Given the description of an element on the screen output the (x, y) to click on. 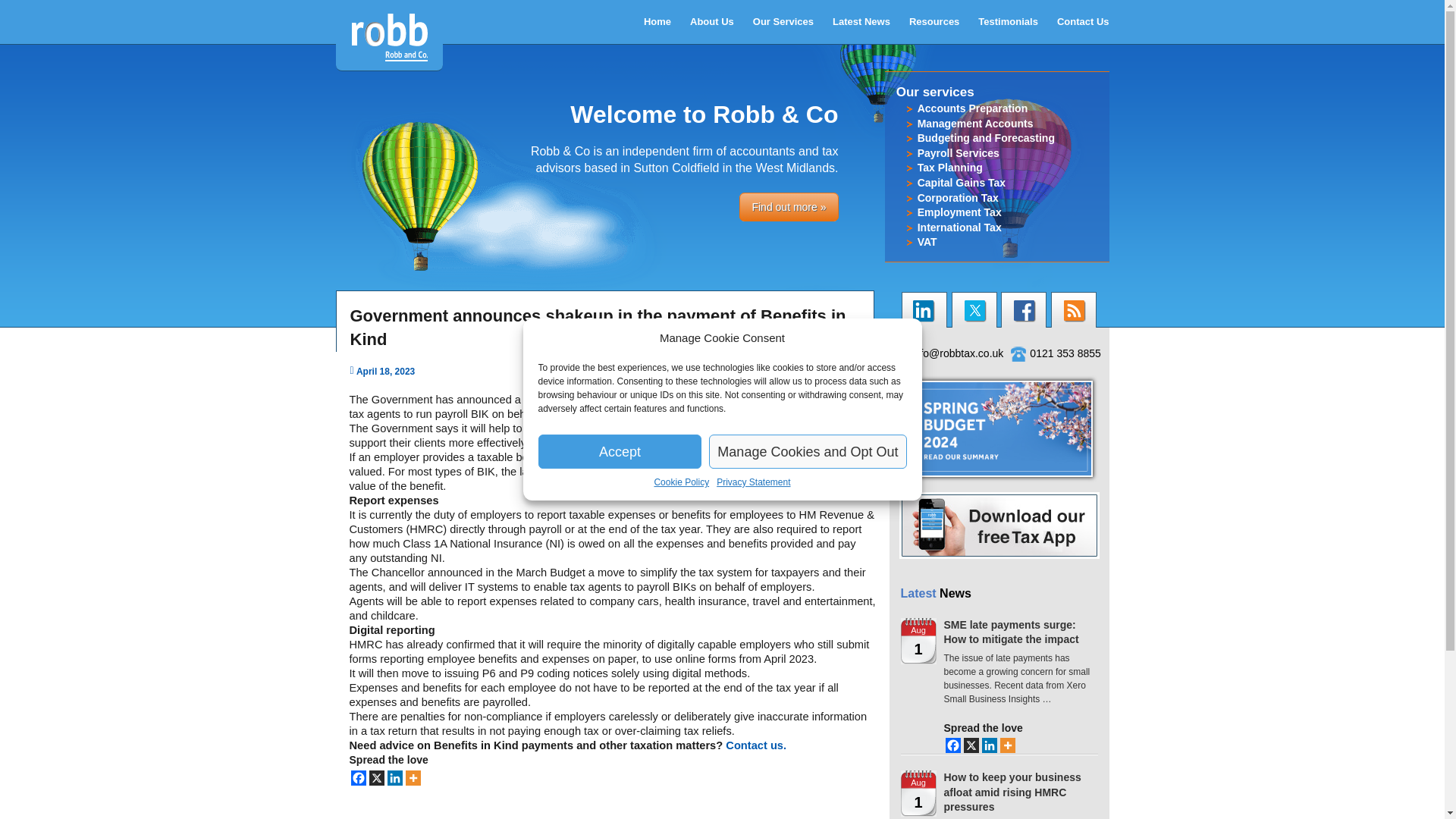
More (412, 777)
Home (657, 22)
Facebook (357, 777)
Manage Cookies and Opt Out (807, 451)
Privacy Statement (753, 481)
Facebook (951, 744)
Linkedin (394, 777)
Linkedin (988, 744)
X (376, 777)
Our Services (783, 22)
